Given the description of an element on the screen output the (x, y) to click on. 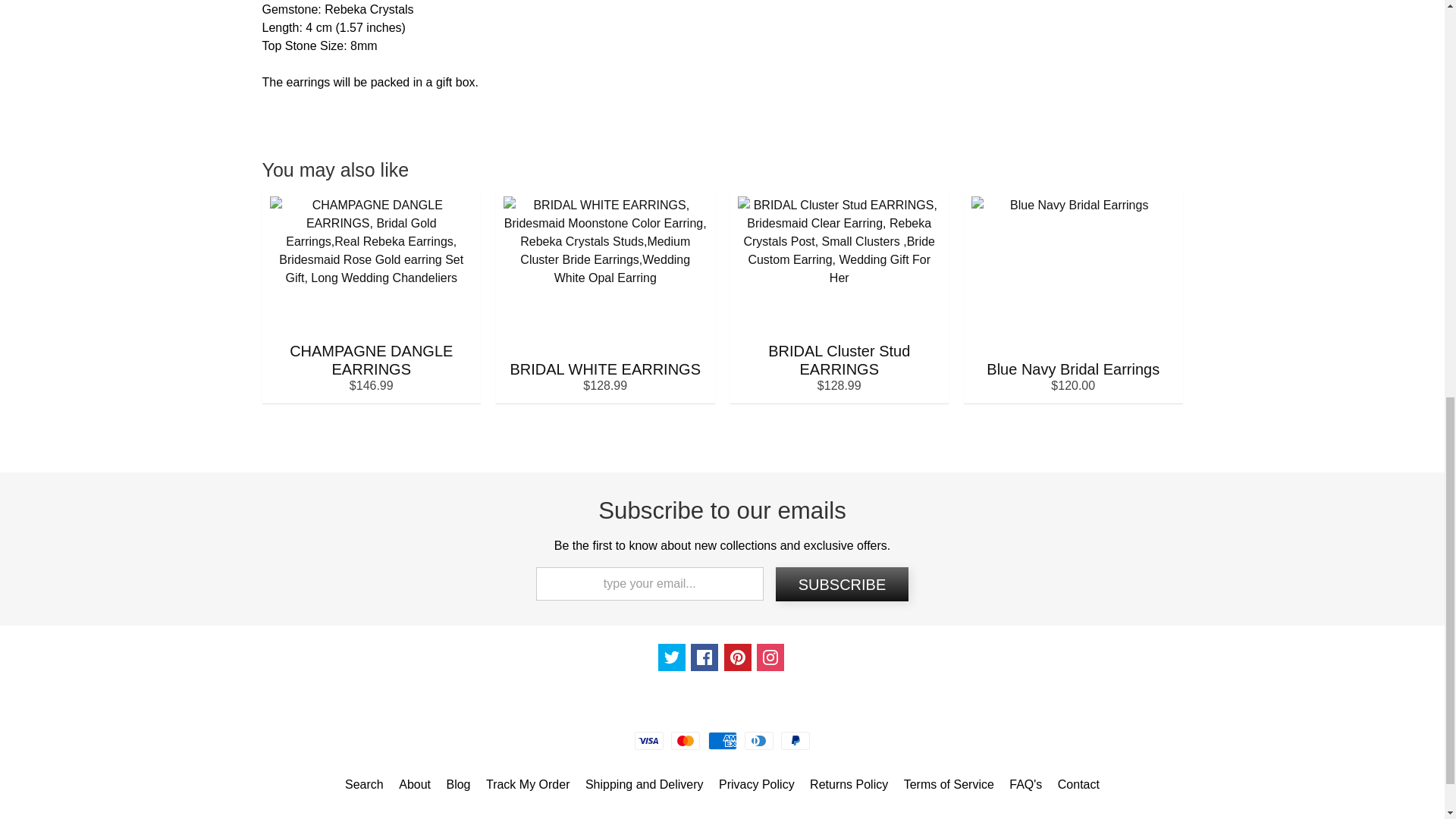
Diners Club (758, 741)
BRIDAL WHITE EARRINGS (605, 295)
Mastercard (685, 741)
American Express (721, 741)
Visa (648, 741)
Instagram (770, 656)
Facebook (703, 656)
PayPal (794, 741)
Twitter (671, 656)
Pinterest (737, 656)
